Given the description of an element on the screen output the (x, y) to click on. 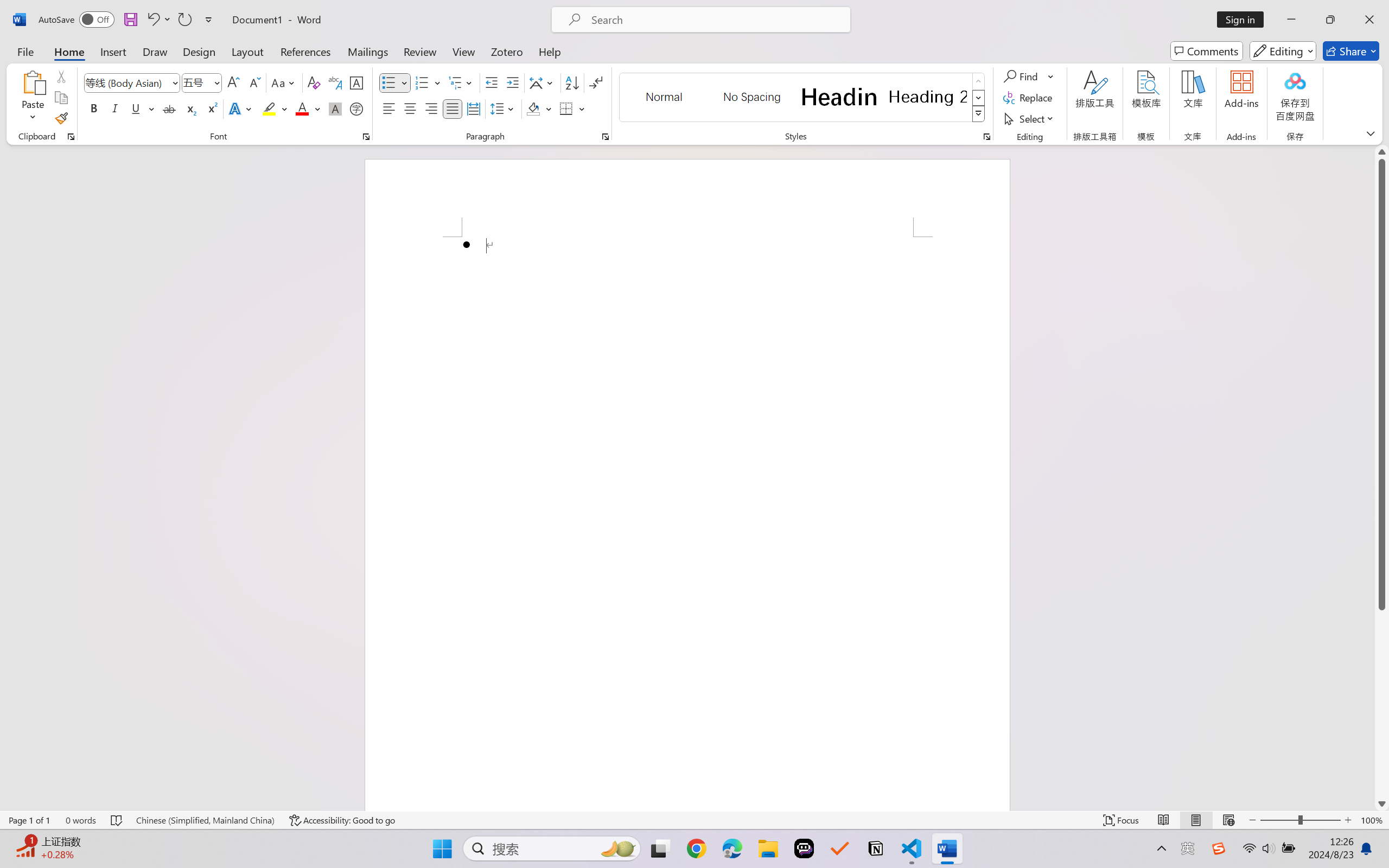
Repeat Bullet Default (184, 19)
